Given the description of an element on the screen output the (x, y) to click on. 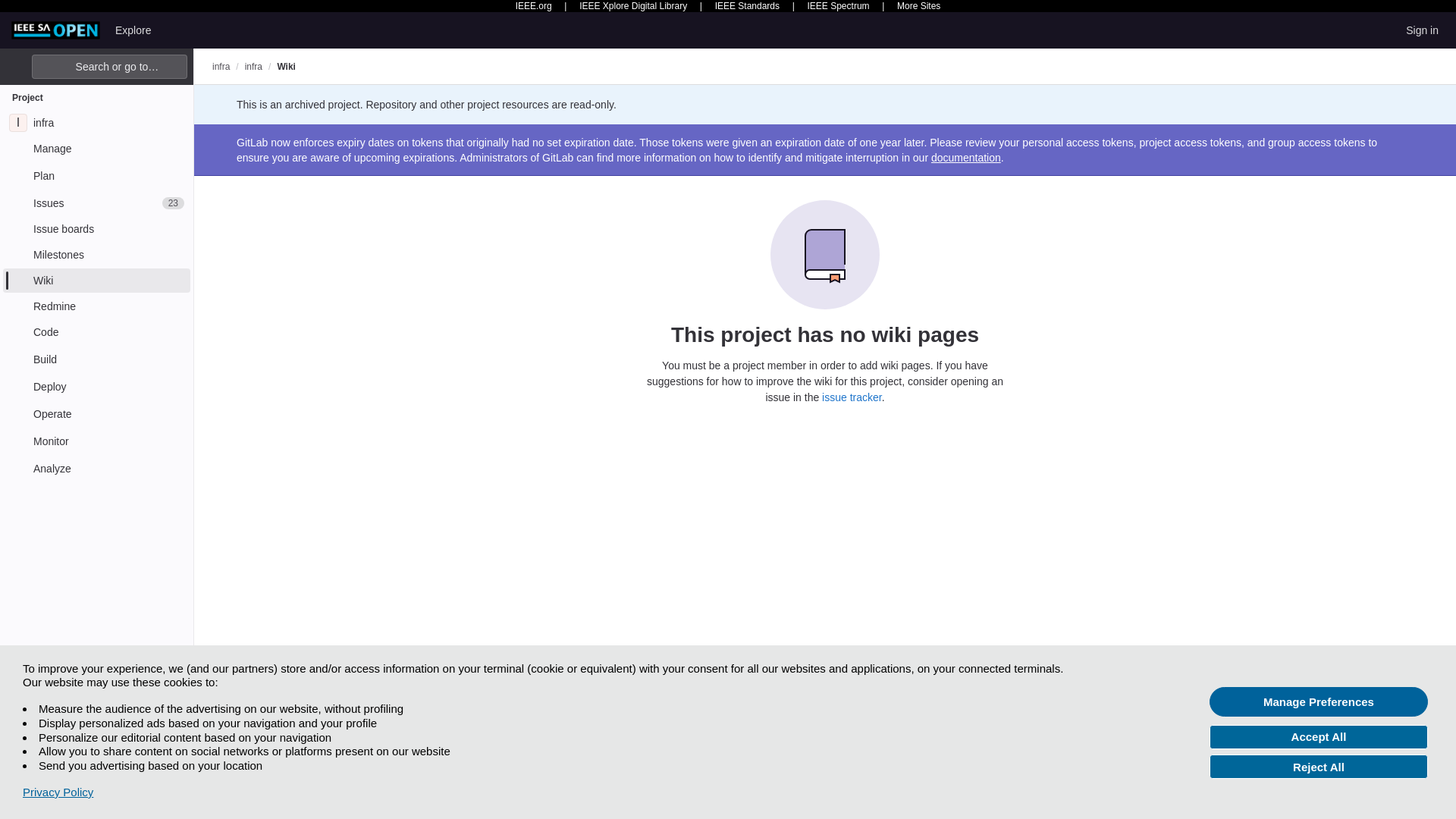
IEEE Standards (746, 5)
Redmine (96, 306)
More Sites (918, 5)
Explore (133, 30)
Issue boards (96, 228)
IEEE Xplore Digital Library (633, 5)
IEEE Spectrum (838, 5)
Homepage (55, 30)
Sign in (1421, 30)
Milestones (96, 254)
